Given the description of an element on the screen output the (x, y) to click on. 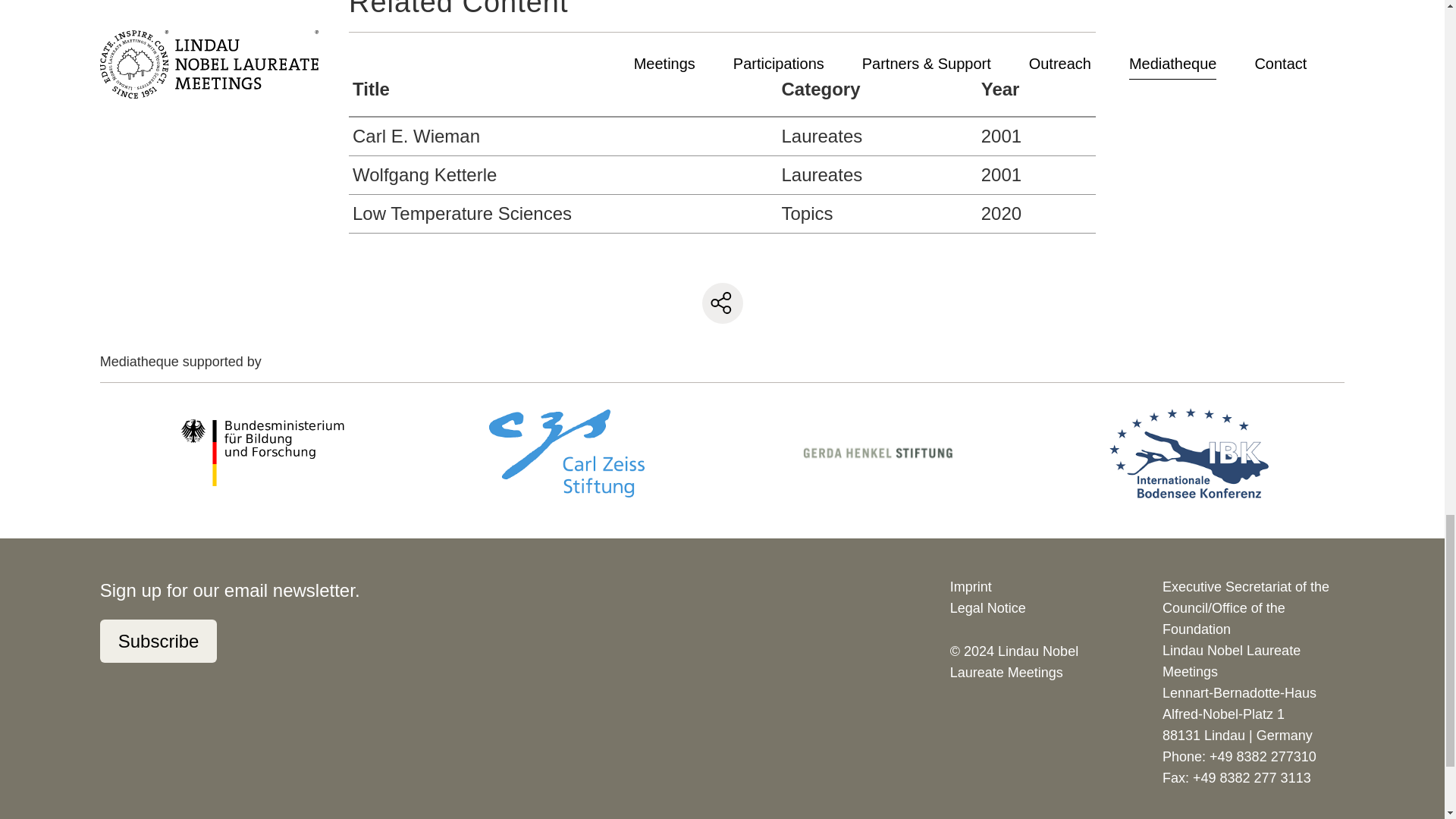
Gerda Henkel Stiftung (877, 452)
Internationale Bodensee Konferenz (1188, 452)
Carl Zeiss Stiftung (566, 452)
